Given the description of an element on the screen output the (x, y) to click on. 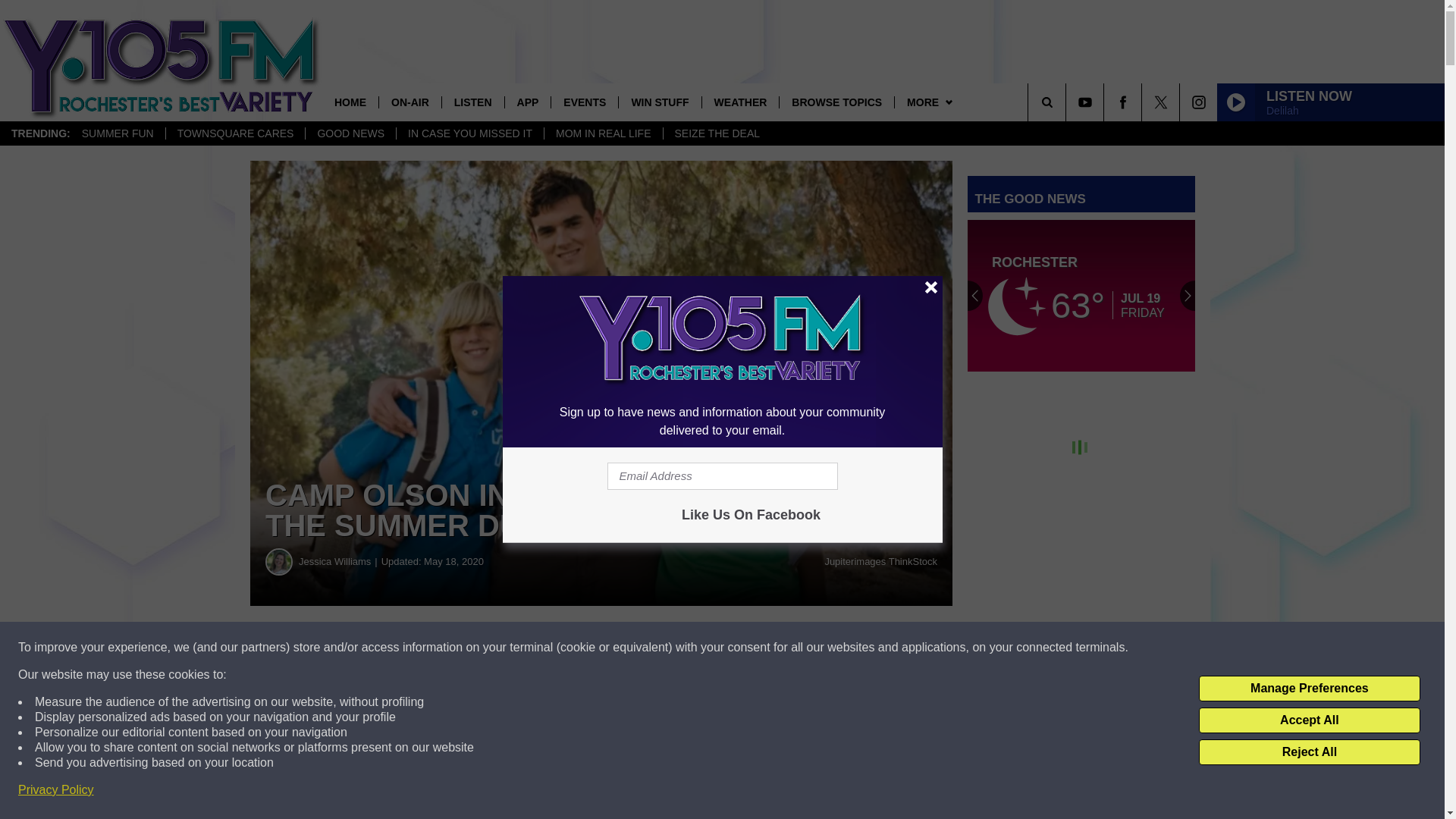
APP (527, 102)
MOM IN REAL LIFE (602, 133)
Reject All (1309, 751)
Privacy Policy (55, 789)
SEARCH (1068, 102)
Share on Facebook (460, 647)
GOOD NEWS (350, 133)
ON-AIR (409, 102)
Email Address (722, 475)
EVENTS (583, 102)
Accept All (1309, 720)
LISTEN (472, 102)
WIN STUFF (658, 102)
SEARCH (1068, 102)
Manage Preferences (1309, 688)
